Given the description of an element on the screen output the (x, y) to click on. 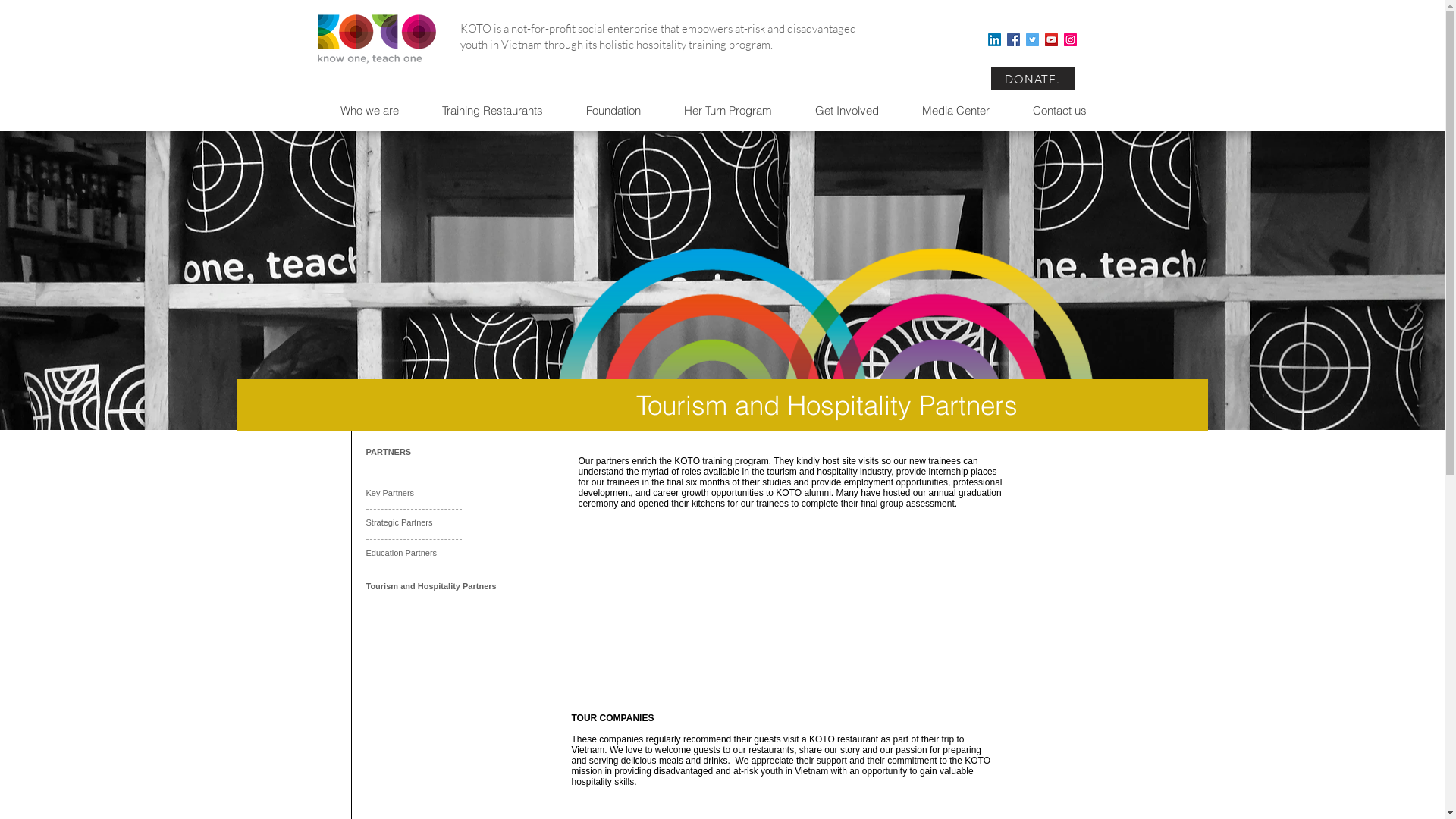
Foundation Element type: text (622, 110)
Training Restaurants Element type: text (501, 110)
Tourism and Hospitality Partners Element type: text (430, 585)
Strategic Partners Element type: text (398, 522)
Who we are Element type: text (379, 110)
Education Partners Element type: text (400, 552)
Her Turn Program Element type: text (737, 110)
Get Involved Element type: text (855, 110)
KOTO-Logo-4C.png Element type: hover (377, 34)
DONATE. Element type: text (1031, 78)
2nd.graphic-thick.line.png Element type: hover (824, 323)
Media Center Element type: text (965, 110)
Key Partners Element type: text (389, 492)
Contact us Element type: text (1068, 110)
